Given the description of an element on the screen output the (x, y) to click on. 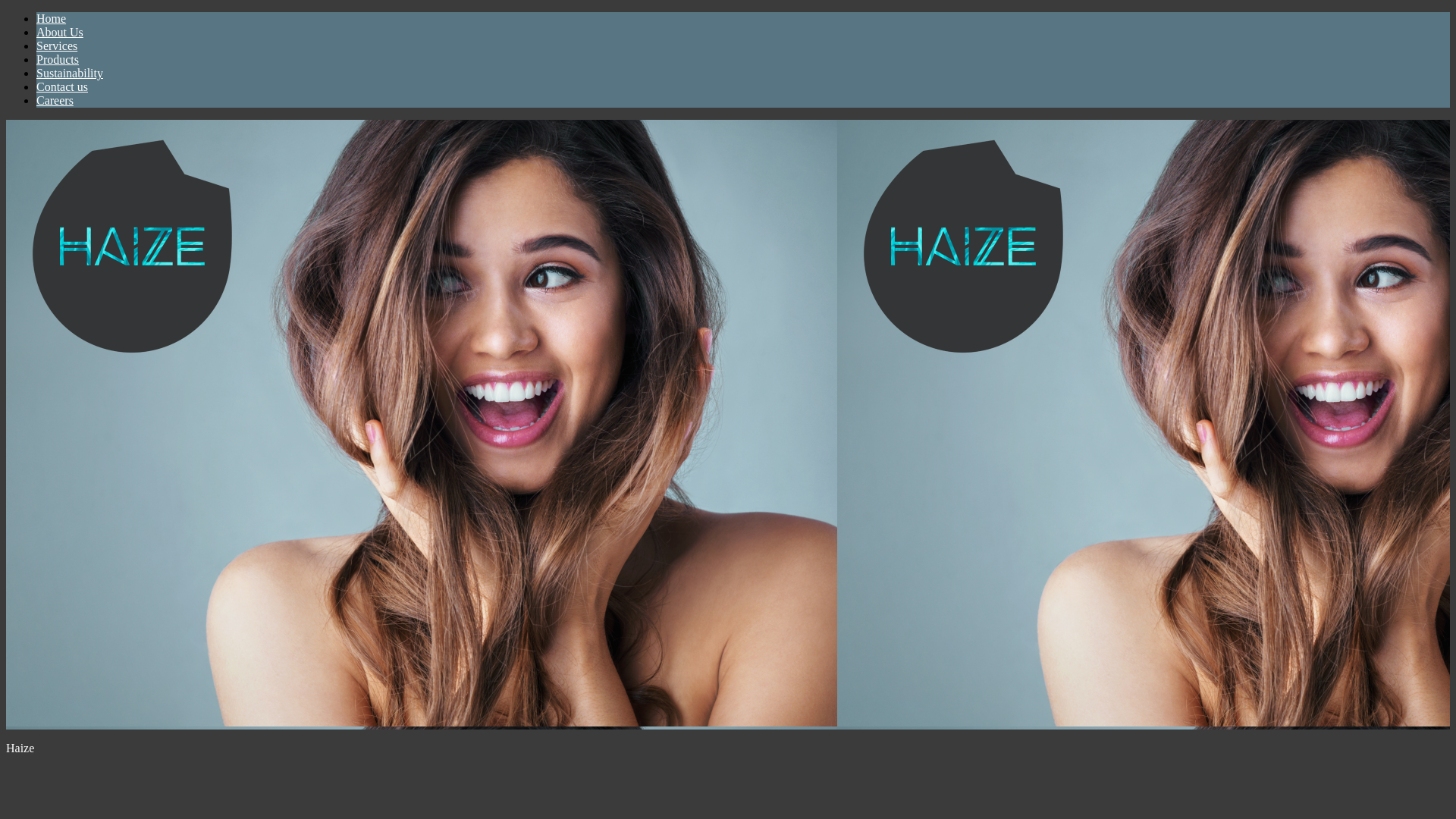
About Us Element type: text (59, 31)
Products Element type: text (57, 59)
Careers Element type: text (54, 100)
Home Element type: text (50, 18)
Services Element type: text (56, 45)
Sustainability Element type: text (69, 72)
Contact us Element type: text (61, 86)
